Given the description of an element on the screen output the (x, y) to click on. 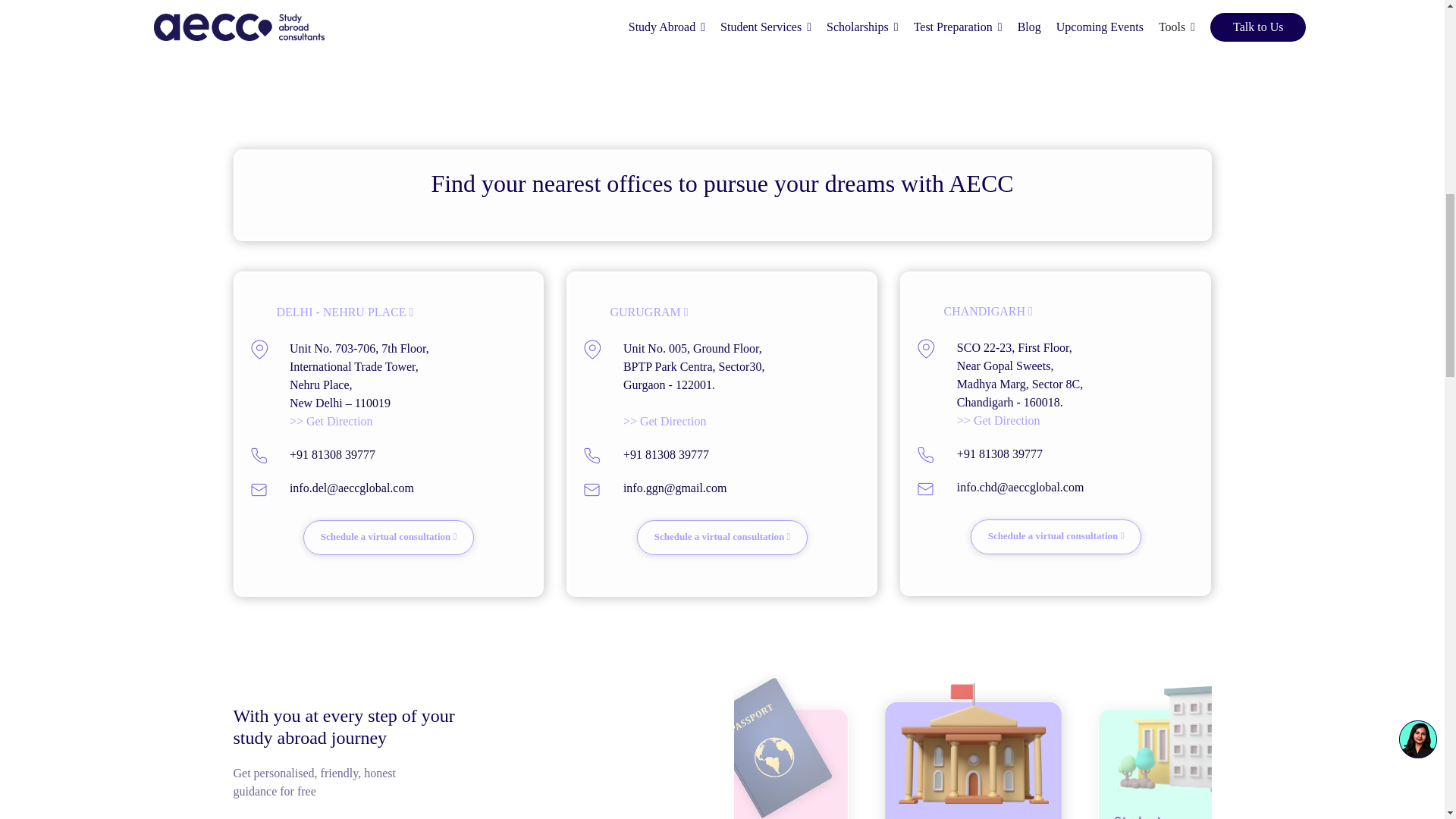
Get Direction (330, 420)
Get Direction (998, 420)
Get Direction (664, 420)
